Given the description of an element on the screen output the (x, y) to click on. 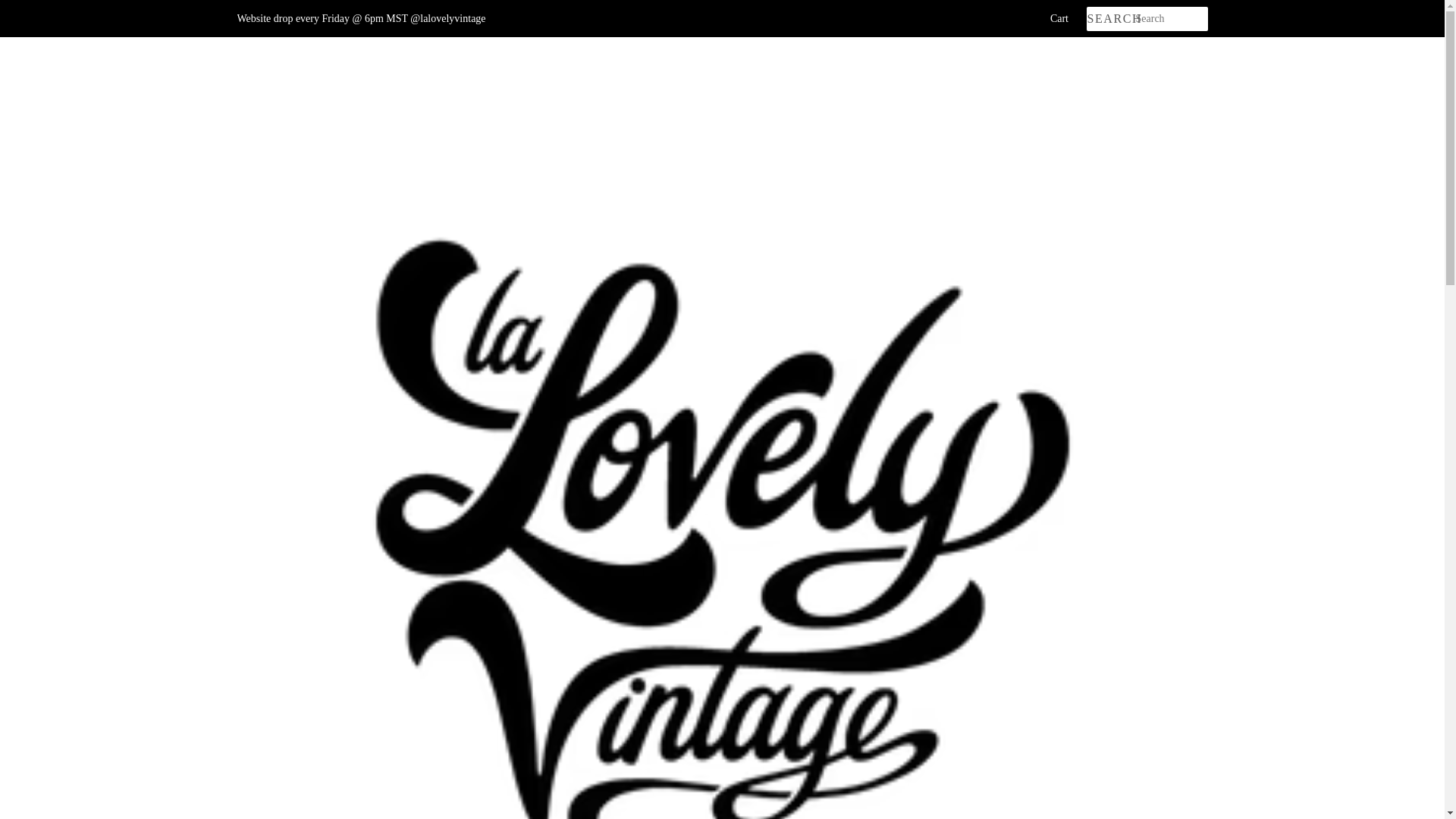
SEARCH (1110, 18)
Cart (1058, 18)
